Given the description of an element on the screen output the (x, y) to click on. 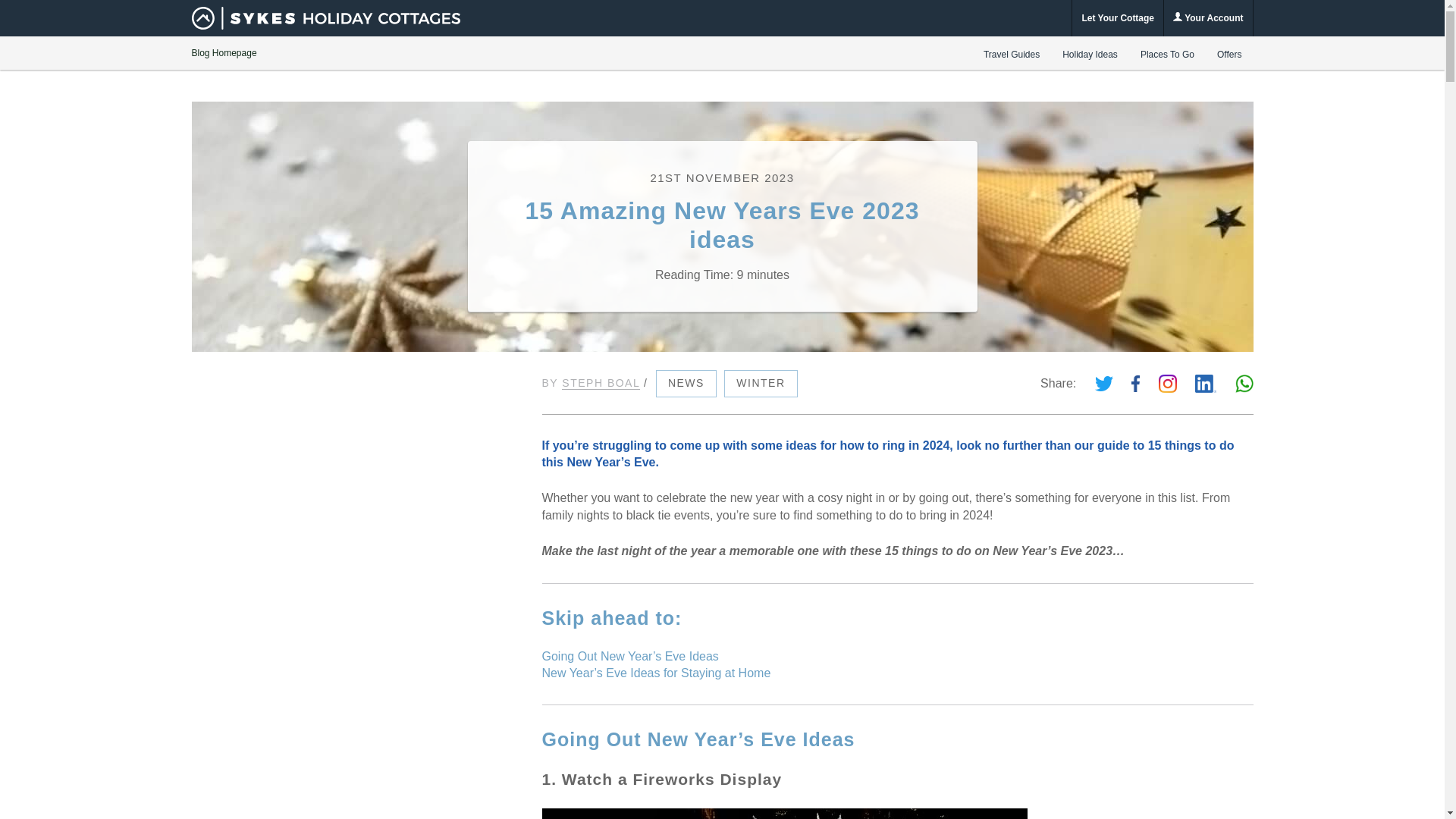
Blog Homepage (223, 52)
Holiday Ideas (1090, 54)
login icon Your Account (1207, 18)
login icon (1177, 16)
Travel Guides (1011, 54)
Let Your Cottage (1117, 18)
